Given the description of an element on the screen output the (x, y) to click on. 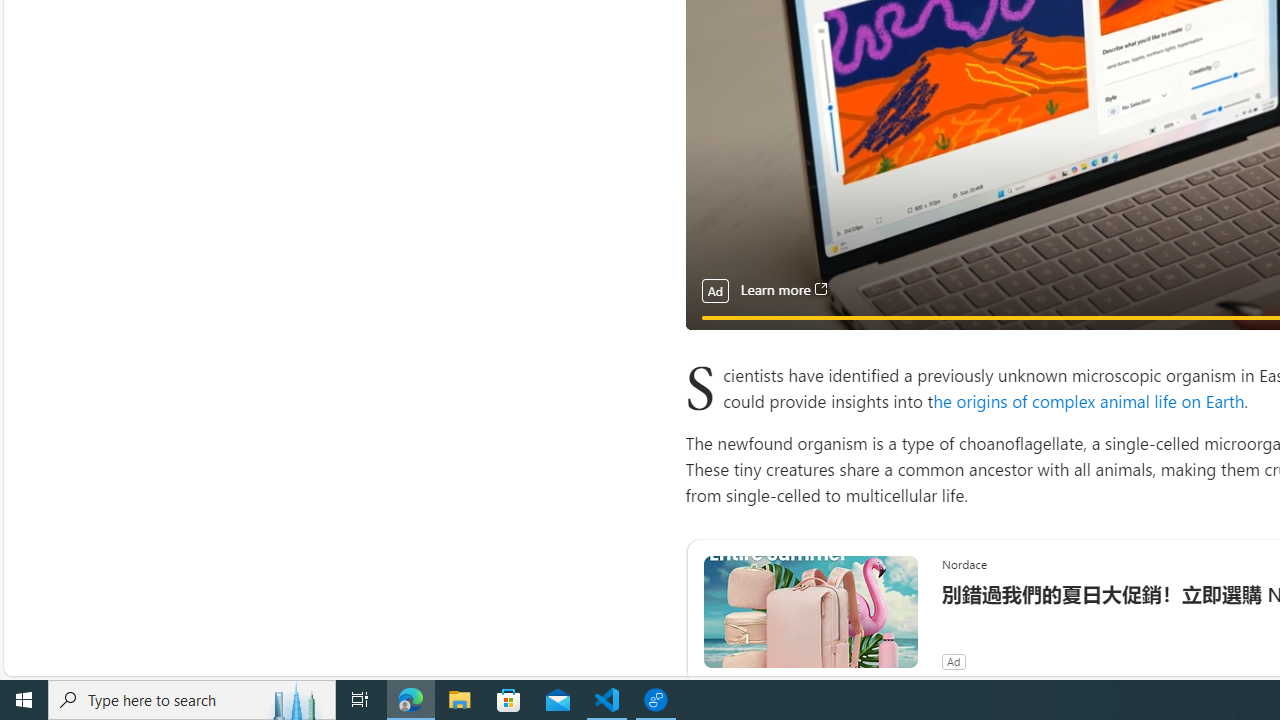
Pause (714, 340)
he origins of complex animal life on Earth (1089, 399)
Learn more (783, 290)
